Given the description of an element on the screen output the (x, y) to click on. 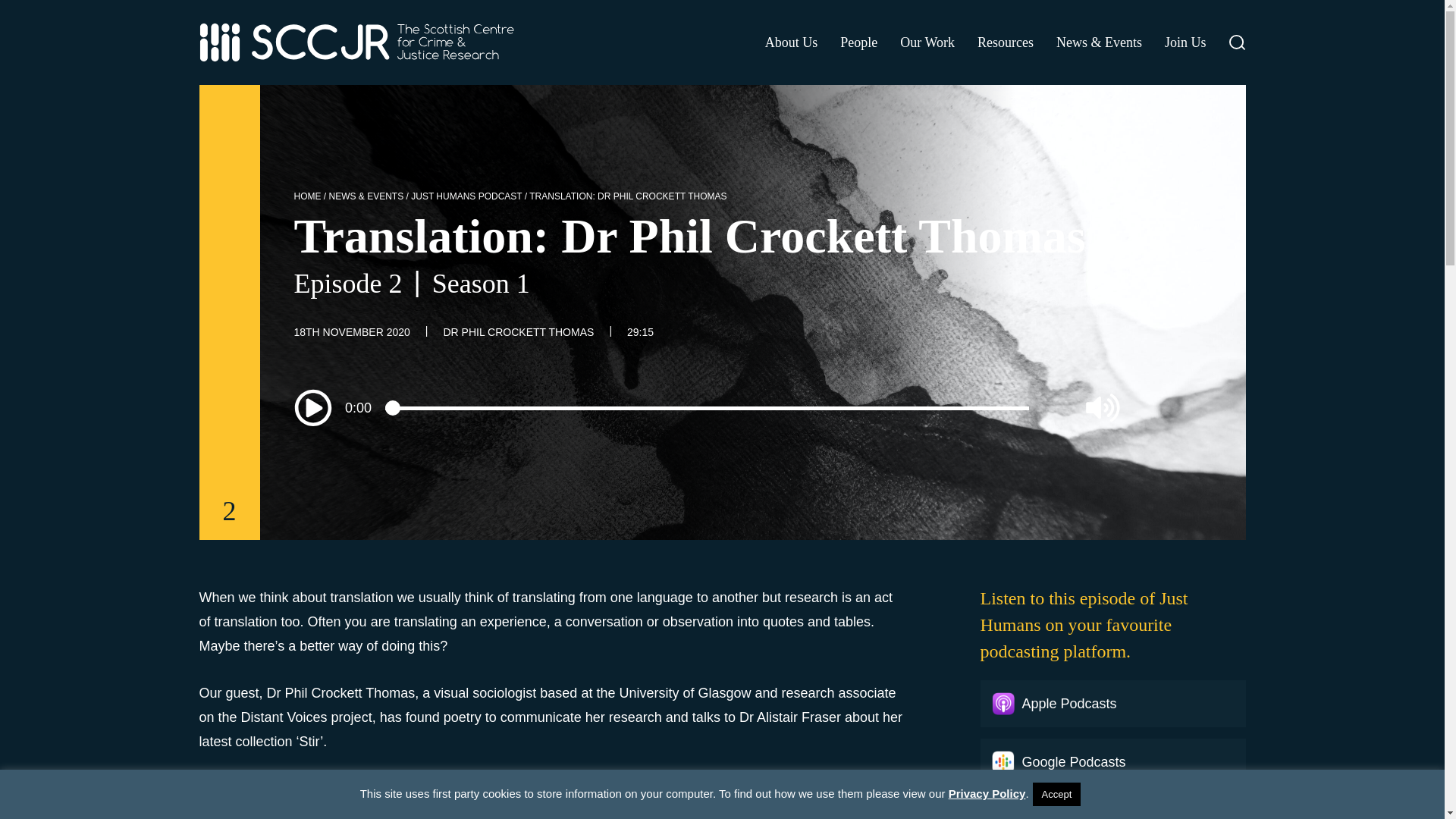
Go to SCCJR. (307, 195)
People (858, 42)
Our Work (927, 42)
Go to Just Humans Podcast. (465, 195)
Resources (1004, 42)
About Us (791, 42)
Join Us (1185, 42)
